Given the description of an element on the screen output the (x, y) to click on. 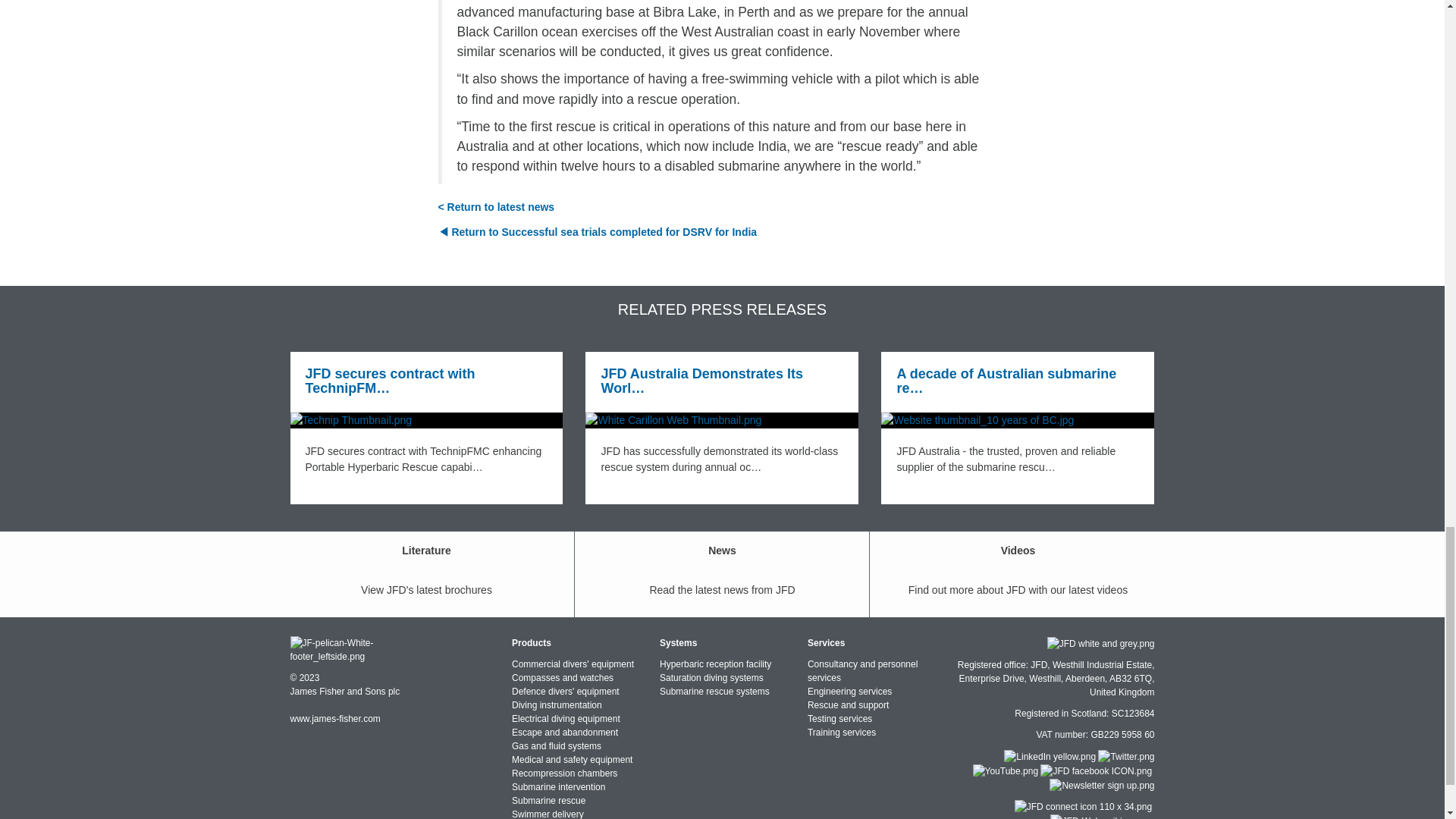
Escape and abandonment (564, 732)
Diving instrumentation (557, 705)
Electrical diving equipment (566, 718)
News and press releases (496, 206)
Swimmer delivery (547, 814)
Submarine rescue (548, 800)
Systems (678, 643)
Medical and safety equipment (571, 759)
Compasses and watches (562, 677)
Gas and fluid systems (556, 746)
